Given the description of an element on the screen output the (x, y) to click on. 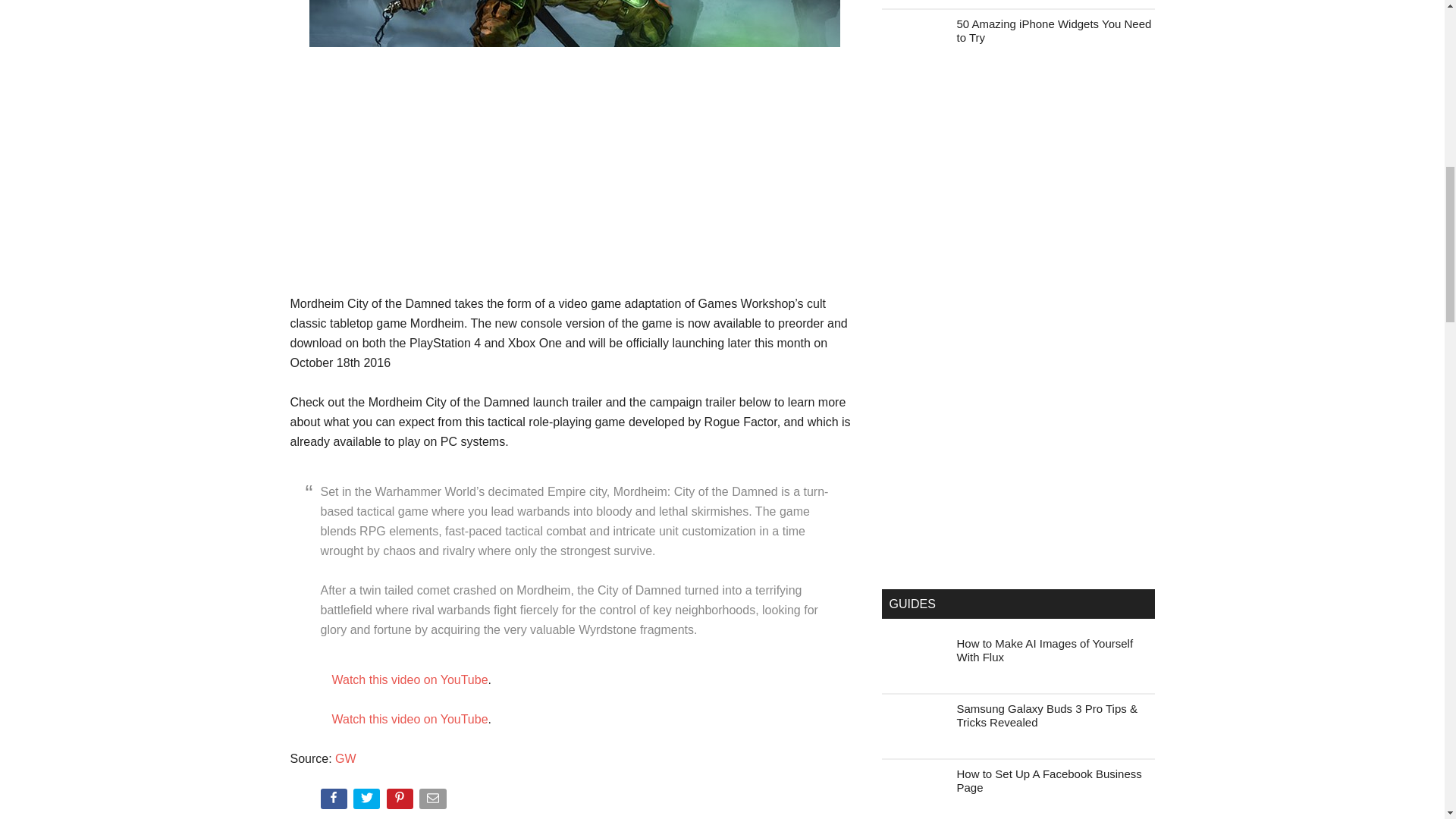
Share on Facebook (334, 801)
GW (345, 758)
Pin (401, 801)
Watch this video on YouTube (409, 679)
Tweet (367, 801)
Watch this video on YouTube (409, 718)
Email (433, 801)
